Given the description of an element on the screen output the (x, y) to click on. 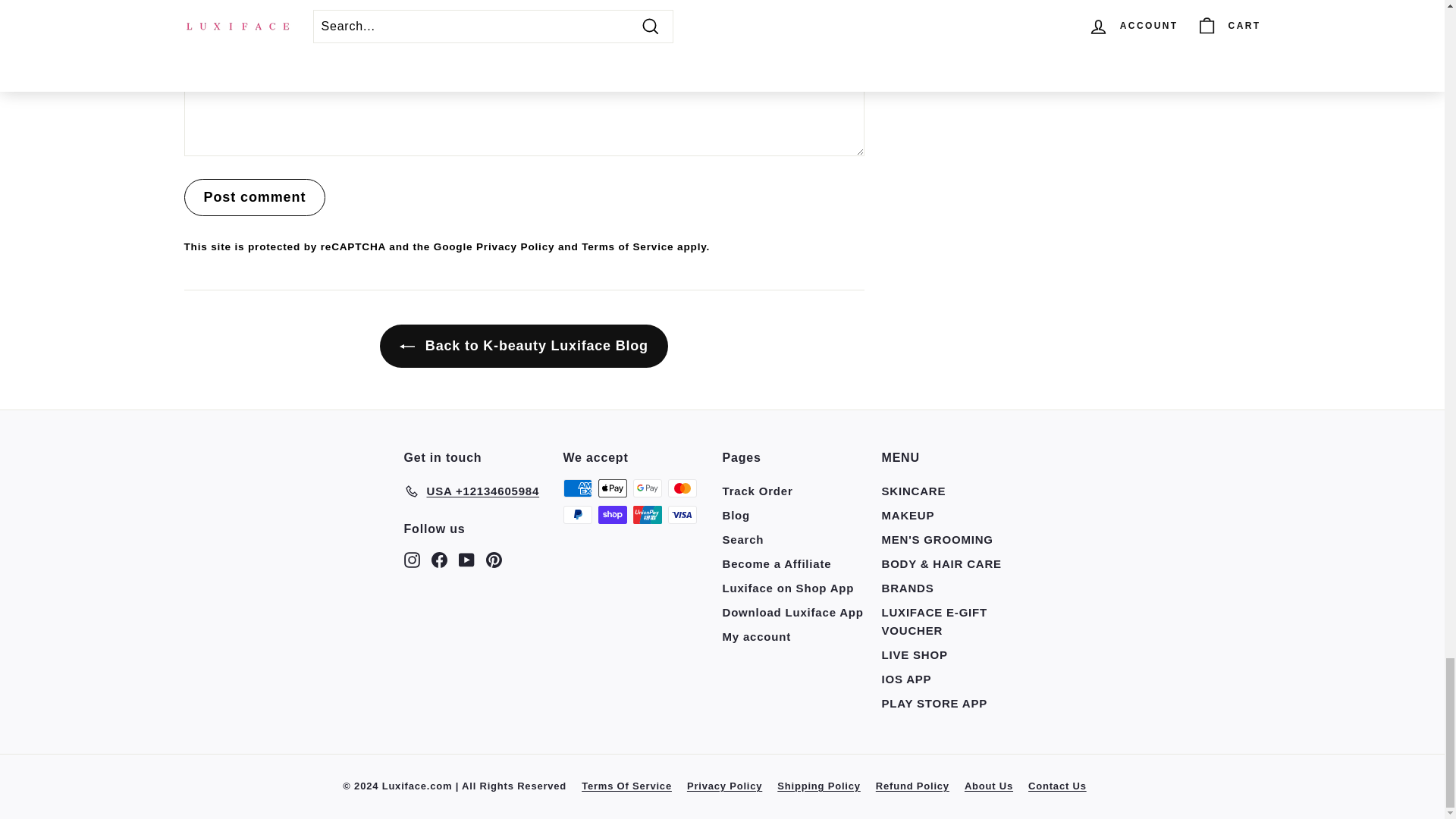
Mastercard (680, 488)
American Express (576, 488)
Google Pay (646, 488)
Apple Pay (611, 488)
